Given the description of an element on the screen output the (x, y) to click on. 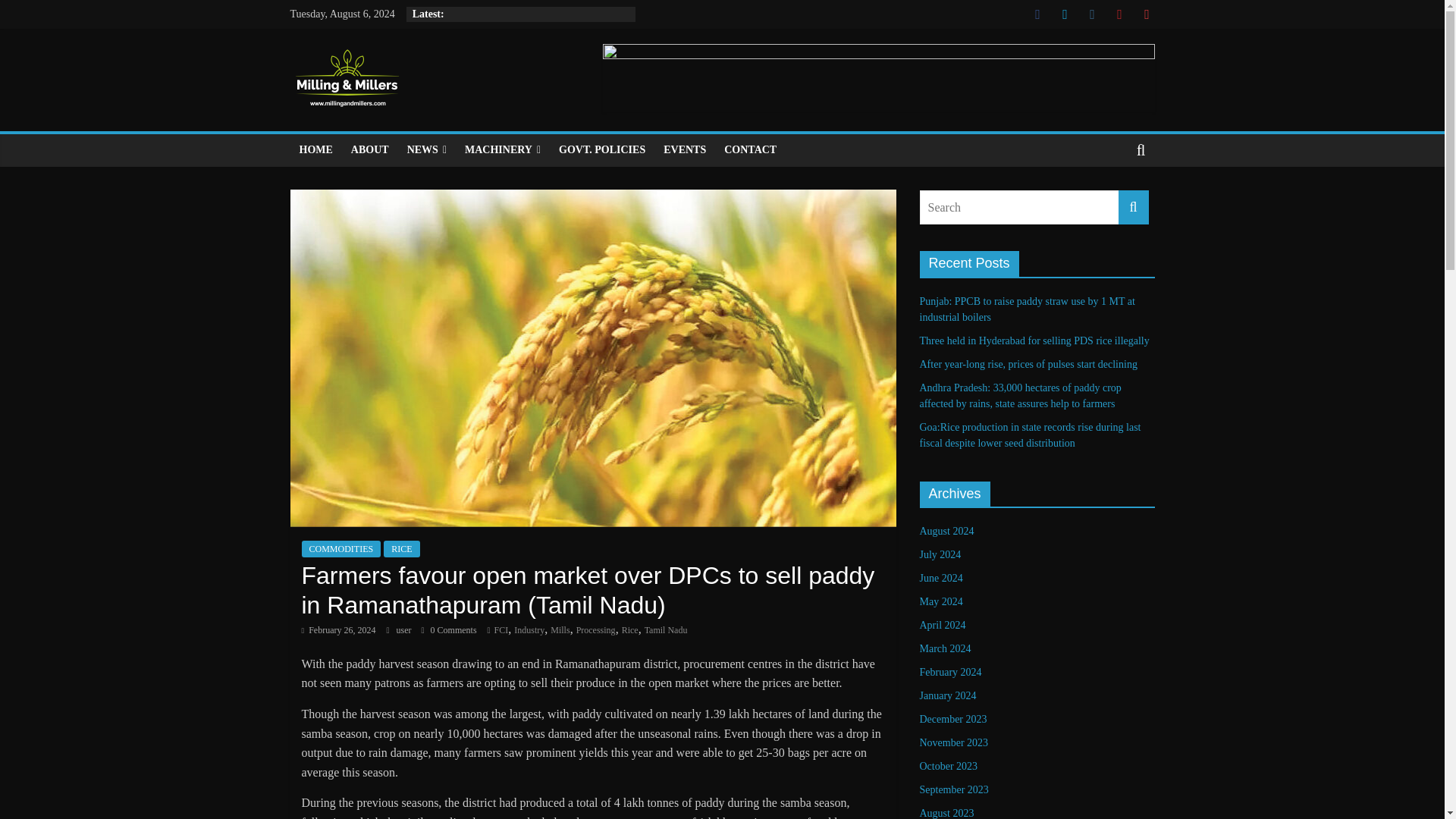
FCI (501, 629)
February 26, 2024 (338, 629)
user (404, 629)
0 Comments (449, 629)
NEWS (426, 150)
Rice (630, 629)
Processing (595, 629)
RICE (401, 548)
EVENTS (683, 150)
MACHINERY (502, 150)
